Given the description of an element on the screen output the (x, y) to click on. 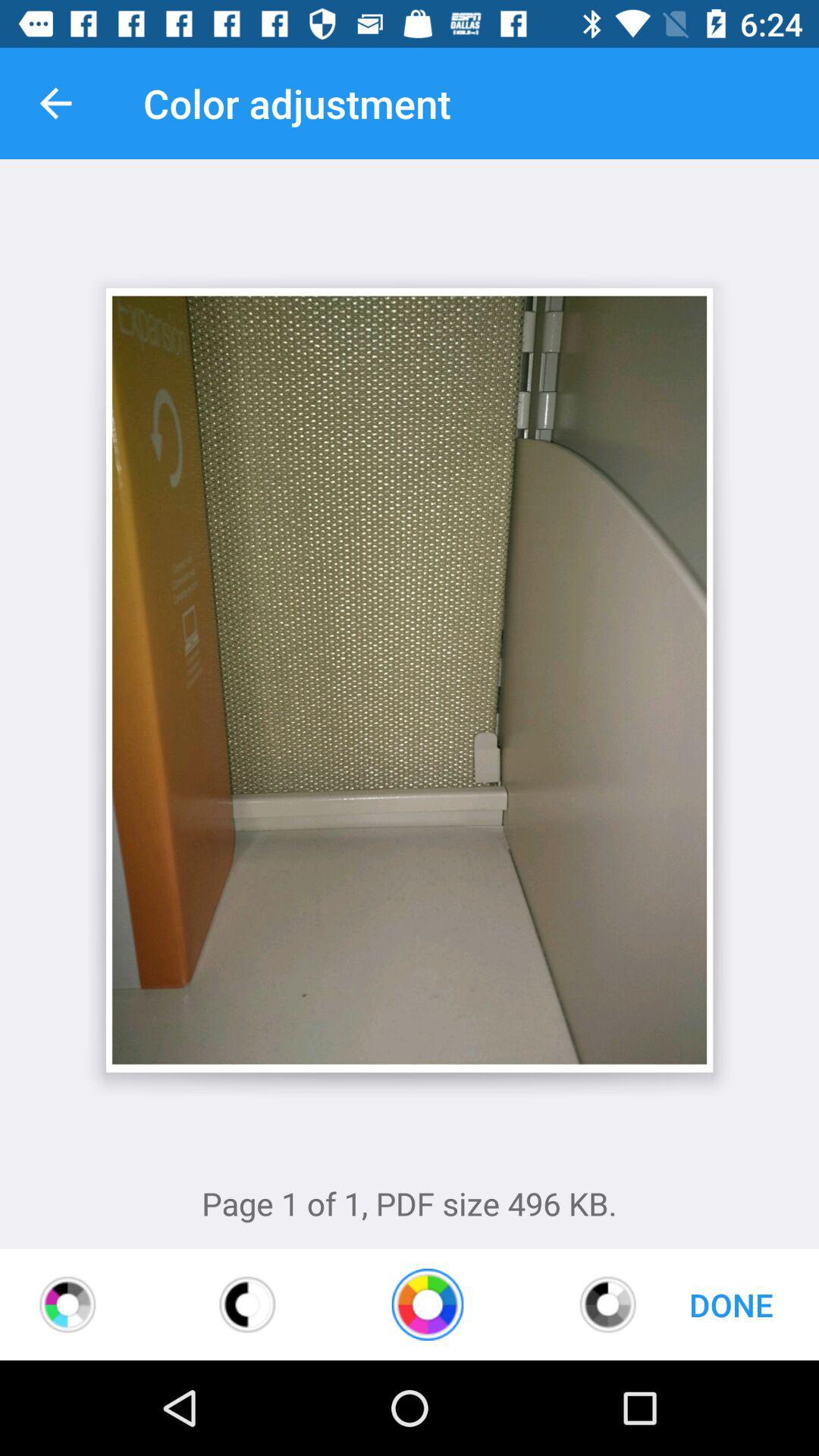
click icon next to color adjustment item (55, 103)
